Given the description of an element on the screen output the (x, y) to click on. 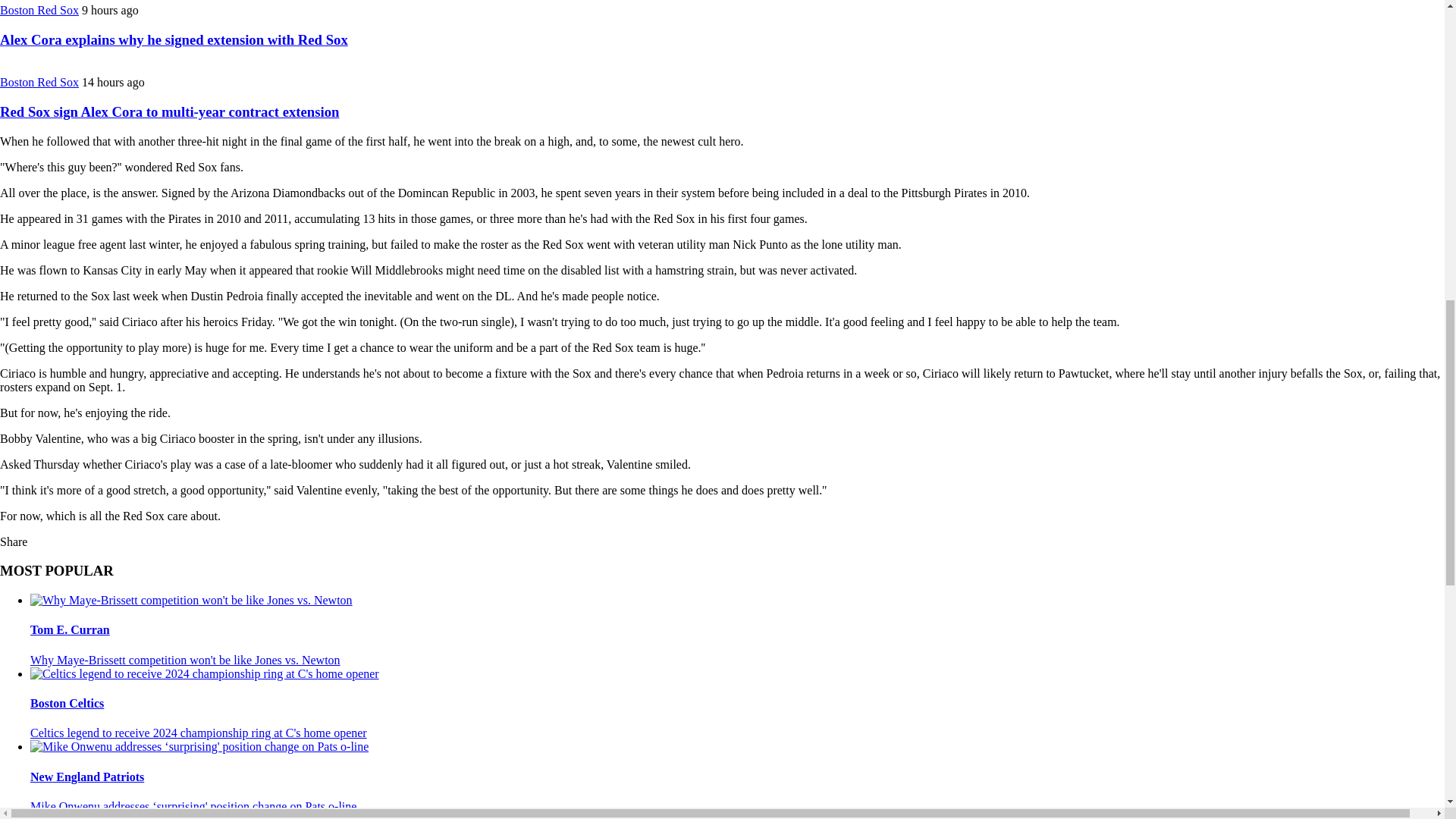
Why Maye-Brissett competition won't be like Jones vs. Newton (185, 659)
Boston Red Sox (39, 10)
Tom E. Curran (70, 629)
New England Patriots (87, 776)
Alex Cora explains why he signed extension with Red Sox (173, 39)
Boston Celtics (66, 703)
Boston Red Sox (39, 82)
Red Sox sign Alex Cora to multi-year contract extension (169, 111)
